Given the description of an element on the screen output the (x, y) to click on. 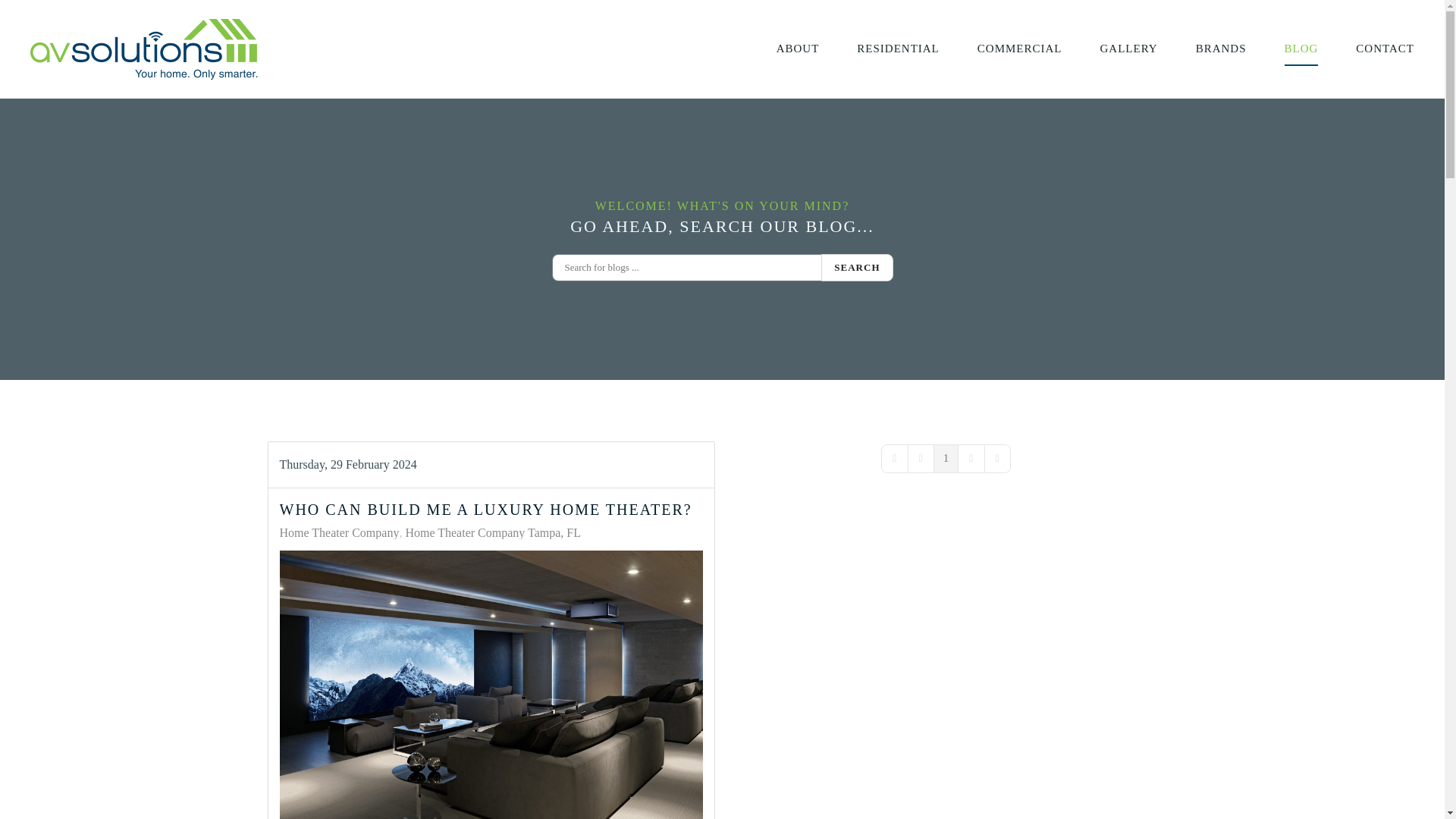
First Page (894, 458)
WHO CAN BUILD ME A LUXURY HOME THEATER? (485, 509)
Home Theater Company Tampa, FL (492, 532)
Previous Page (920, 458)
Who Can Build Me a Luxury Home Theater? (490, 684)
Home Theater Company (338, 532)
SEARCH (856, 267)
